Given the description of an element on the screen output the (x, y) to click on. 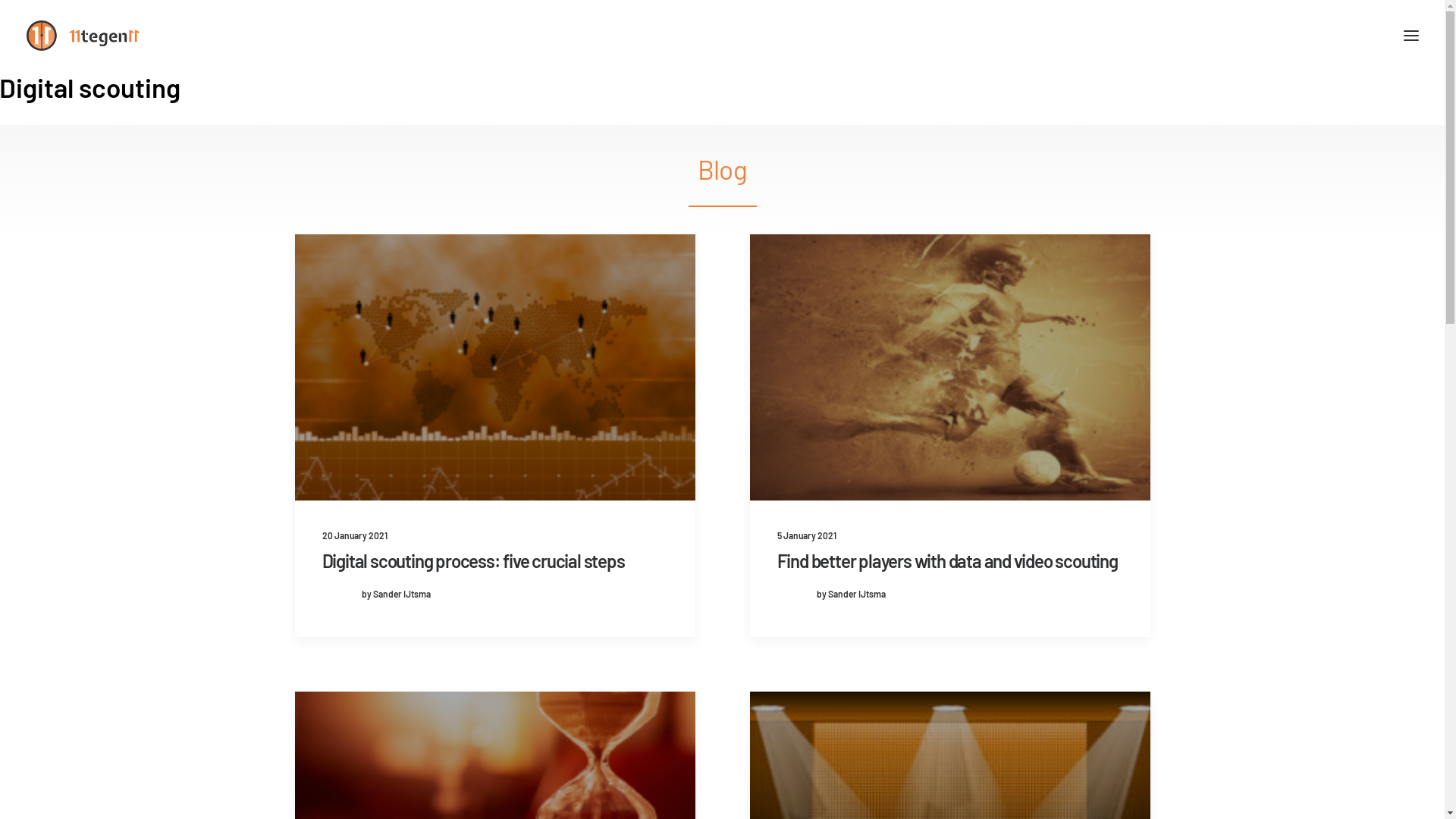
by Sander IJtsma Element type: text (375, 592)
by Sander IJtsma Element type: text (830, 592)
Digital scouting process: five crucial steps Element type: text (472, 560)
Find better players with data and video scouting Element type: text (946, 560)
